Given the description of an element on the screen output the (x, y) to click on. 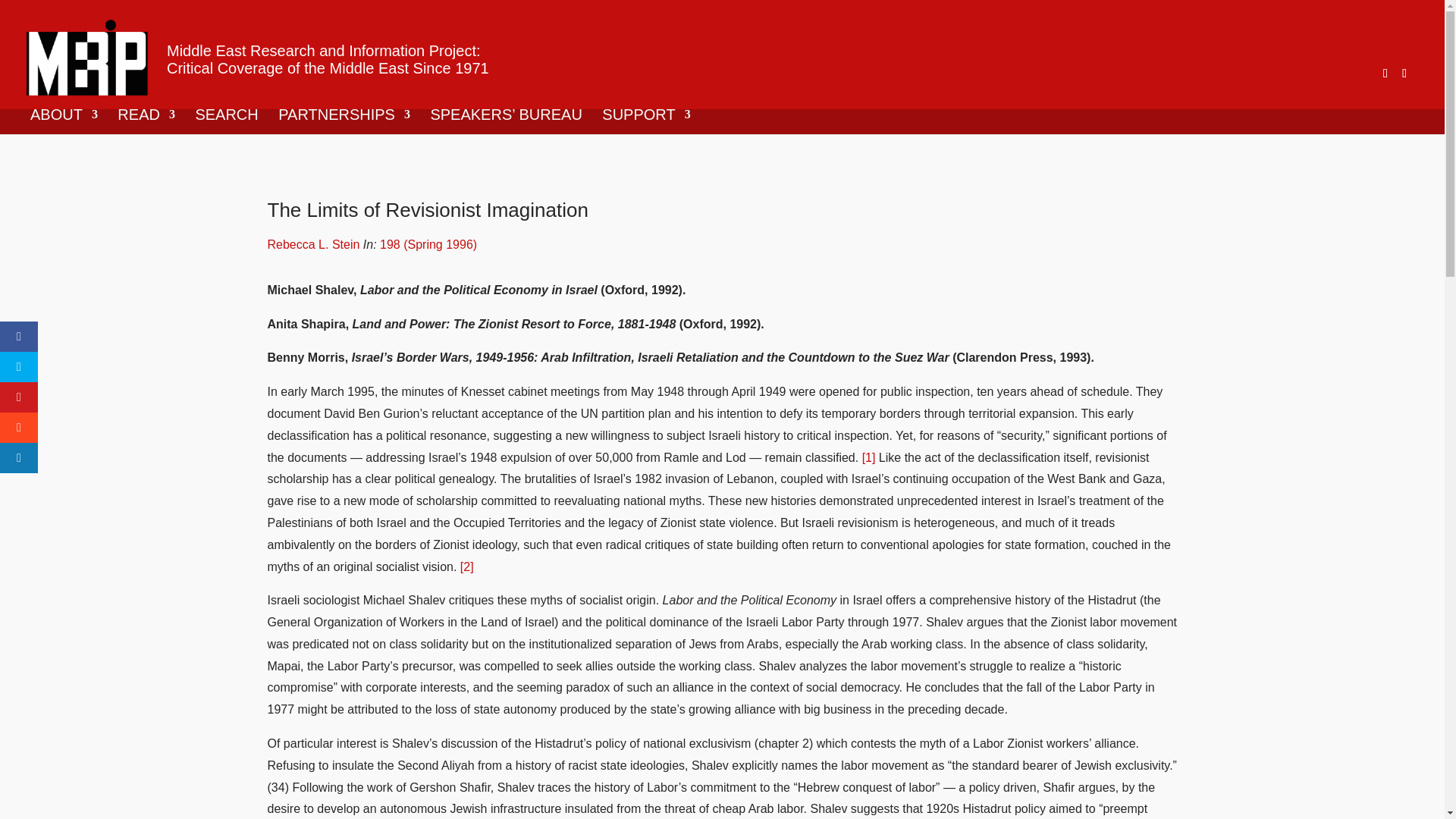
READ (145, 121)
PARTNERSHIPS (344, 121)
SUPPORT (646, 121)
ABOUT (63, 121)
SEARCH (226, 121)
